Given the description of an element on the screen output the (x, y) to click on. 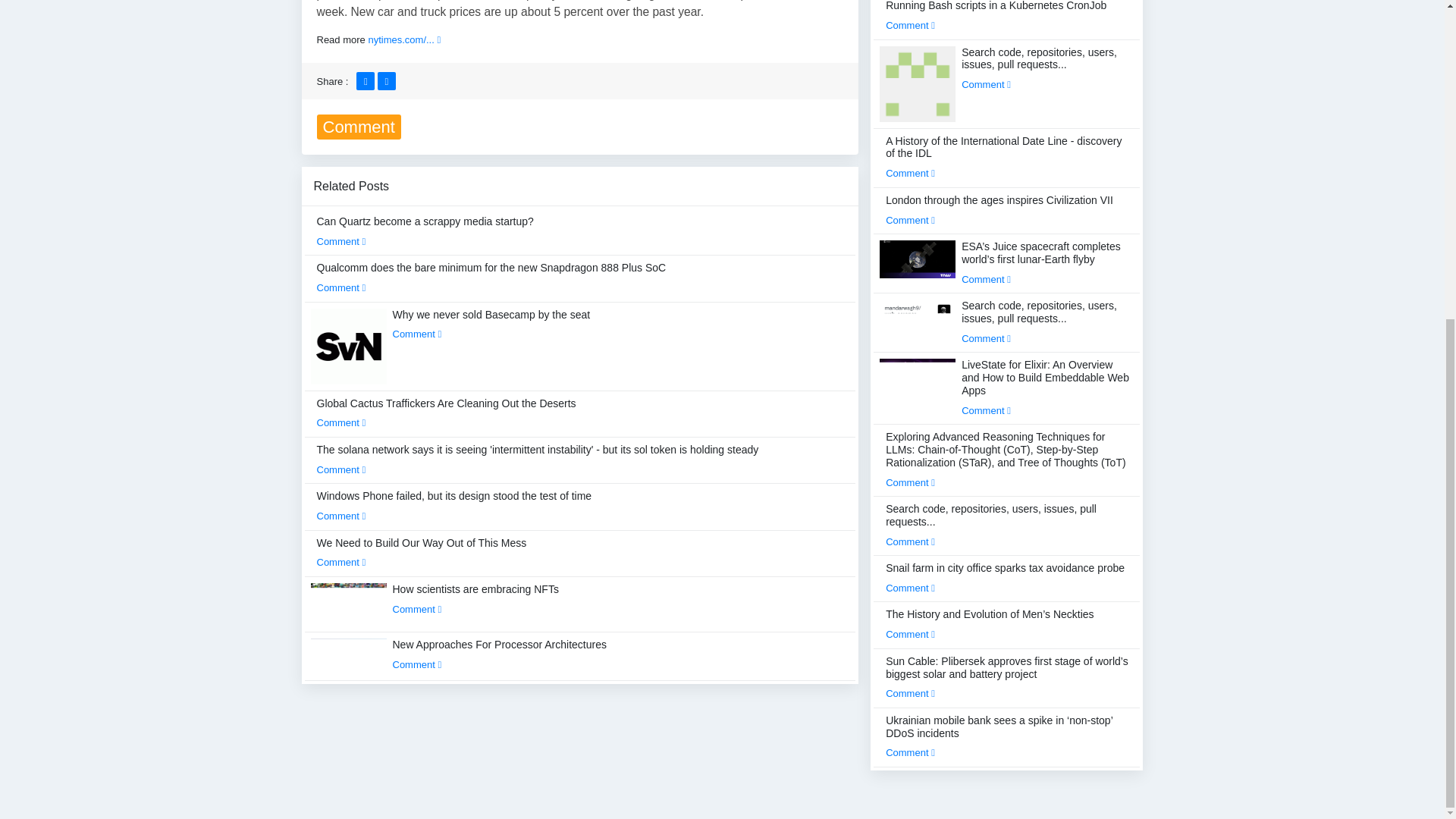
Comment (341, 515)
Comment (417, 333)
Global Cactus Traffickers Are Cleaning Out the Deserts (446, 413)
We Need to Build Our Way Out of This Mess (422, 552)
Comment (341, 562)
Comment (341, 241)
How scientists are embracing NFTs (476, 599)
Comment (417, 609)
Windows Phone failed, but its design stood the test of time (454, 505)
